Given the description of an element on the screen output the (x, y) to click on. 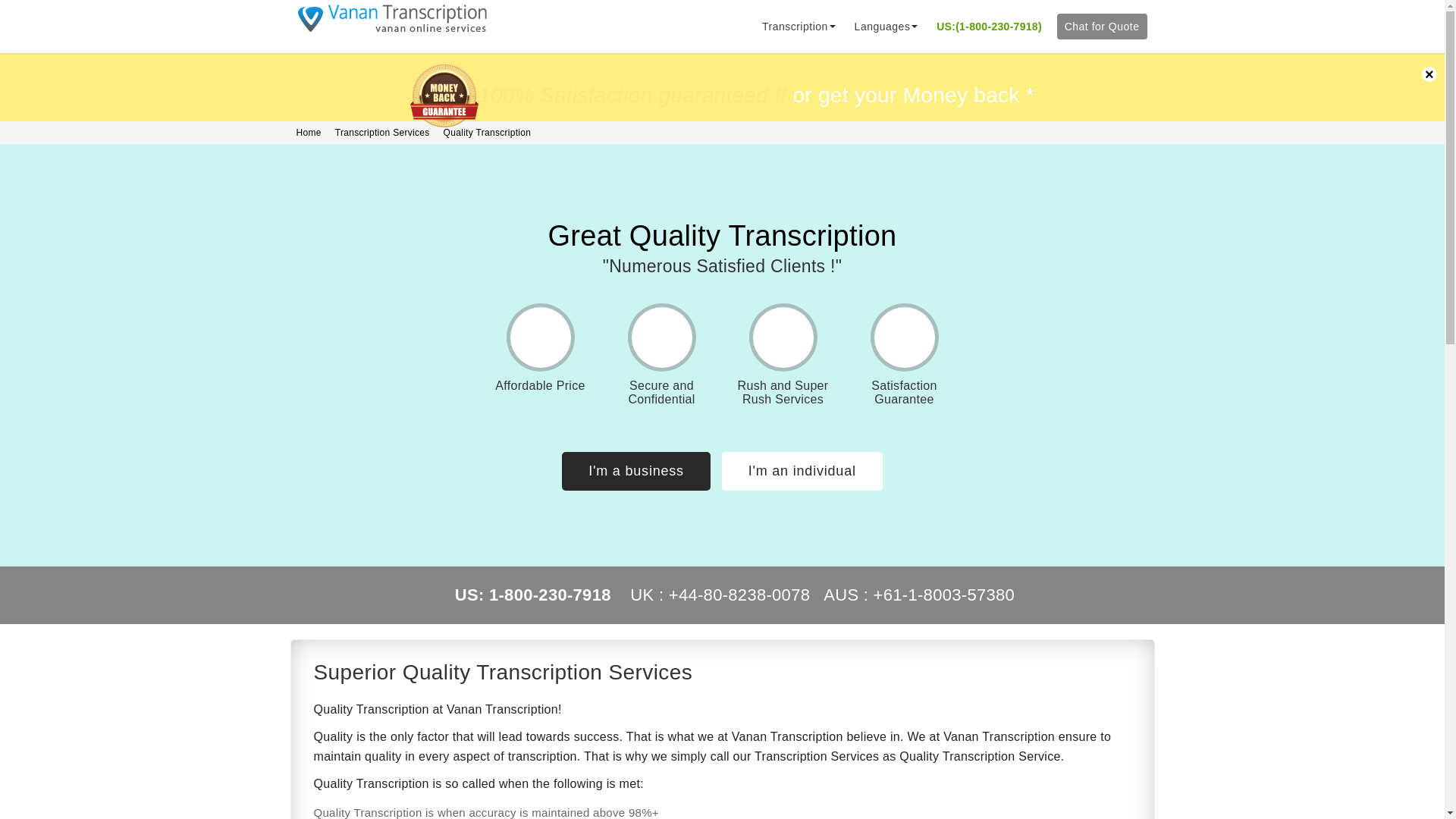
Transcription Services (381, 132)
US: 1-800-230-7918 (532, 594)
I'm a business (636, 471)
Home (307, 132)
Transcription (795, 26)
Languages (882, 26)
Chat for Quote (1102, 26)
I'm an individual (802, 471)
